Given the description of an element on the screen output the (x, y) to click on. 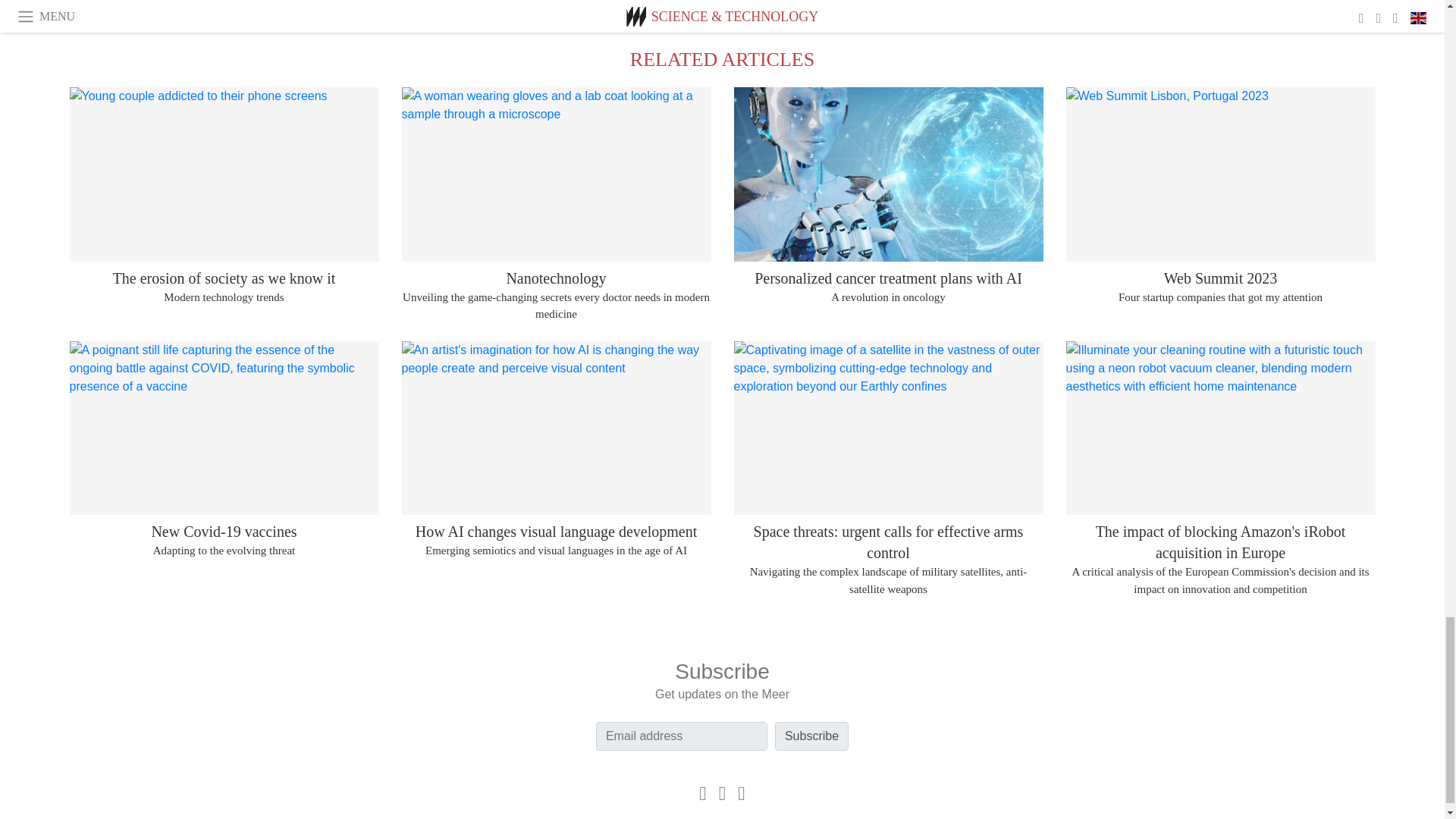
Subscribe (811, 736)
